Given the description of an element on the screen output the (x, y) to click on. 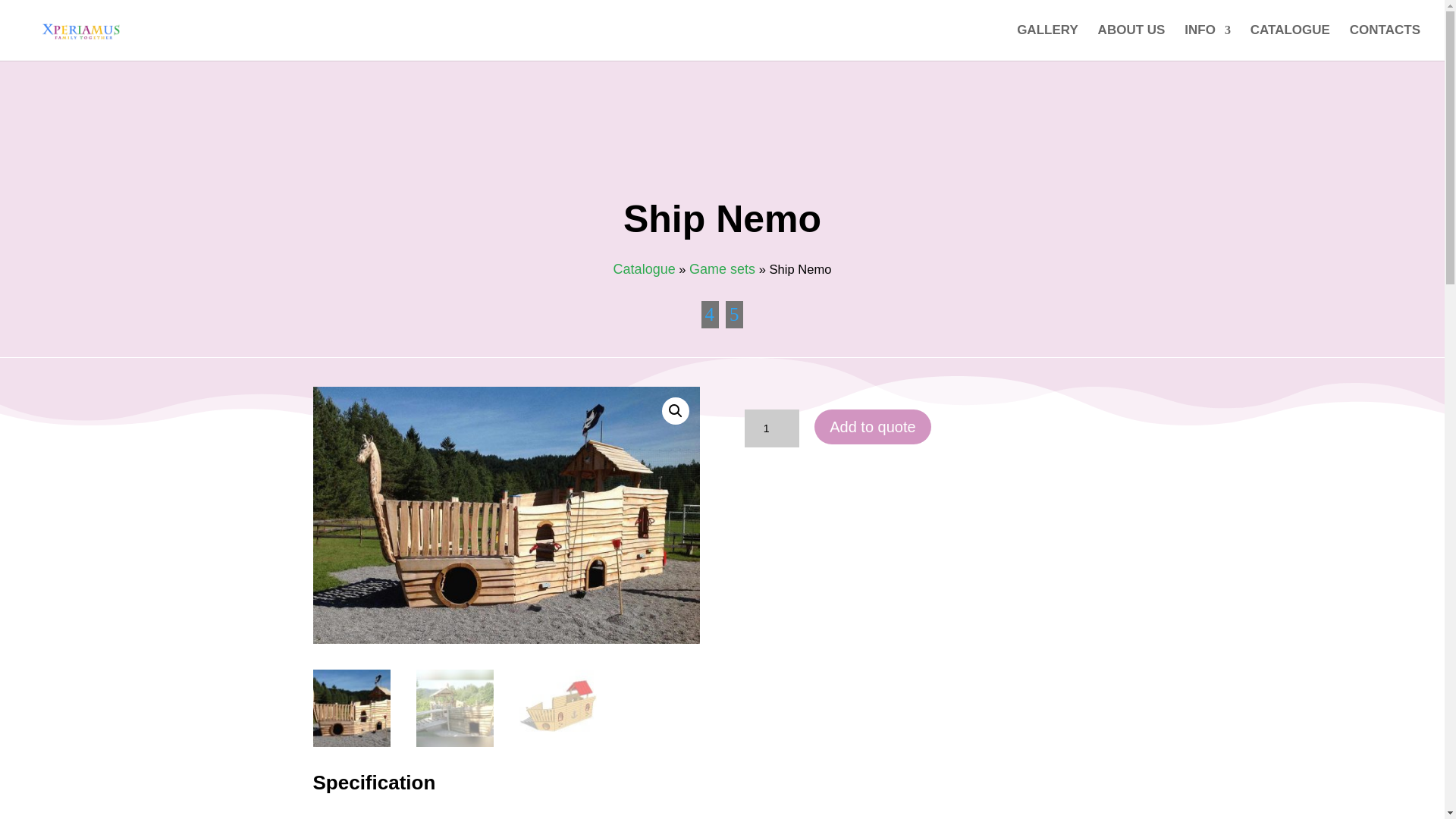
CATALOGUE (1290, 42)
Catalogue (643, 268)
GALLERY (1047, 42)
ABOUT US (1131, 42)
Add to quote (871, 426)
1 (771, 428)
863980071 (505, 514)
INFO (1207, 42)
CONTACTS (1385, 42)
Game sets (721, 268)
